Given the description of an element on the screen output the (x, y) to click on. 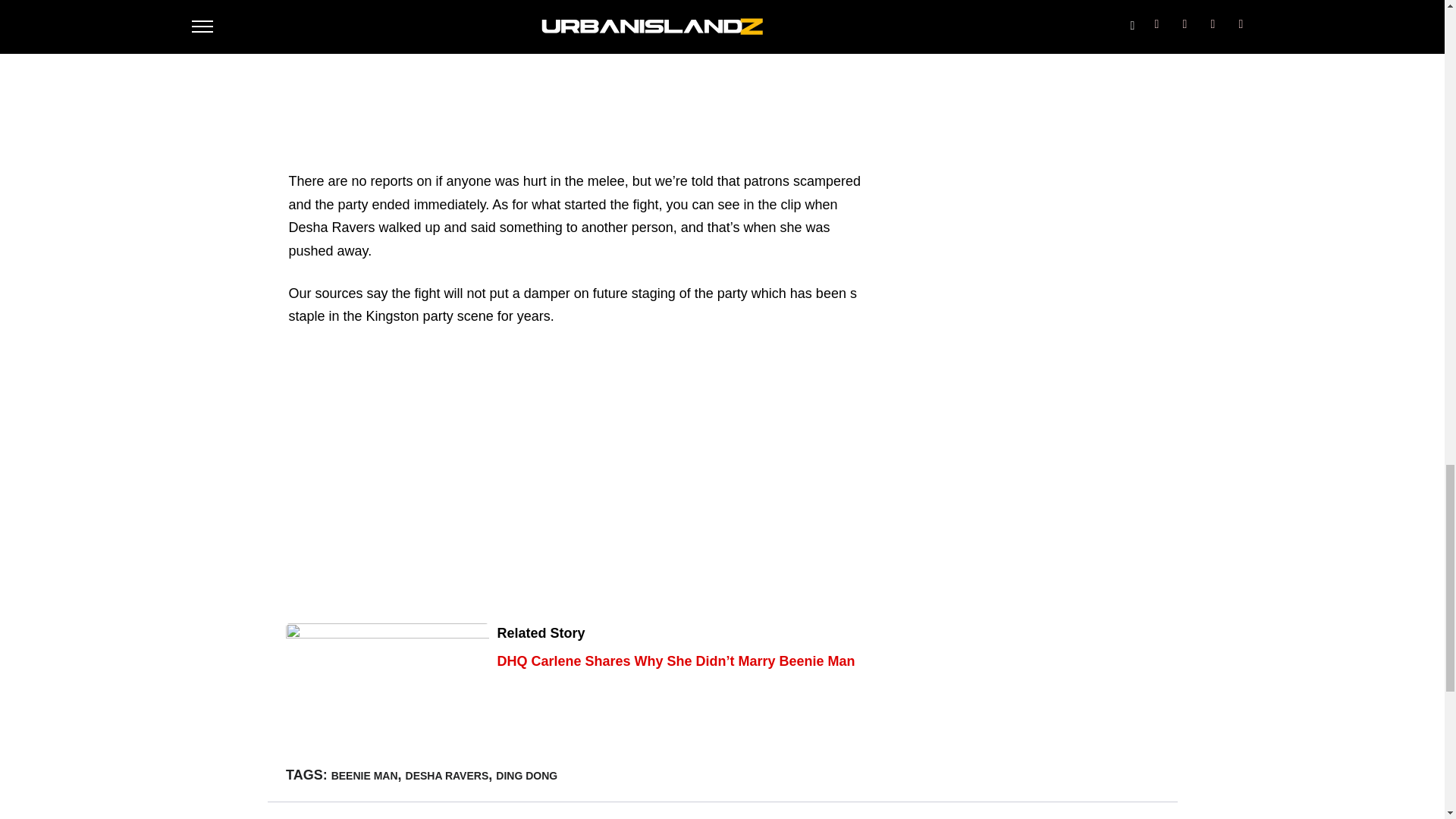
BEENIE MAN (364, 775)
DESHA RAVERS (447, 775)
DING DONG (526, 775)
